Given the description of an element on the screen output the (x, y) to click on. 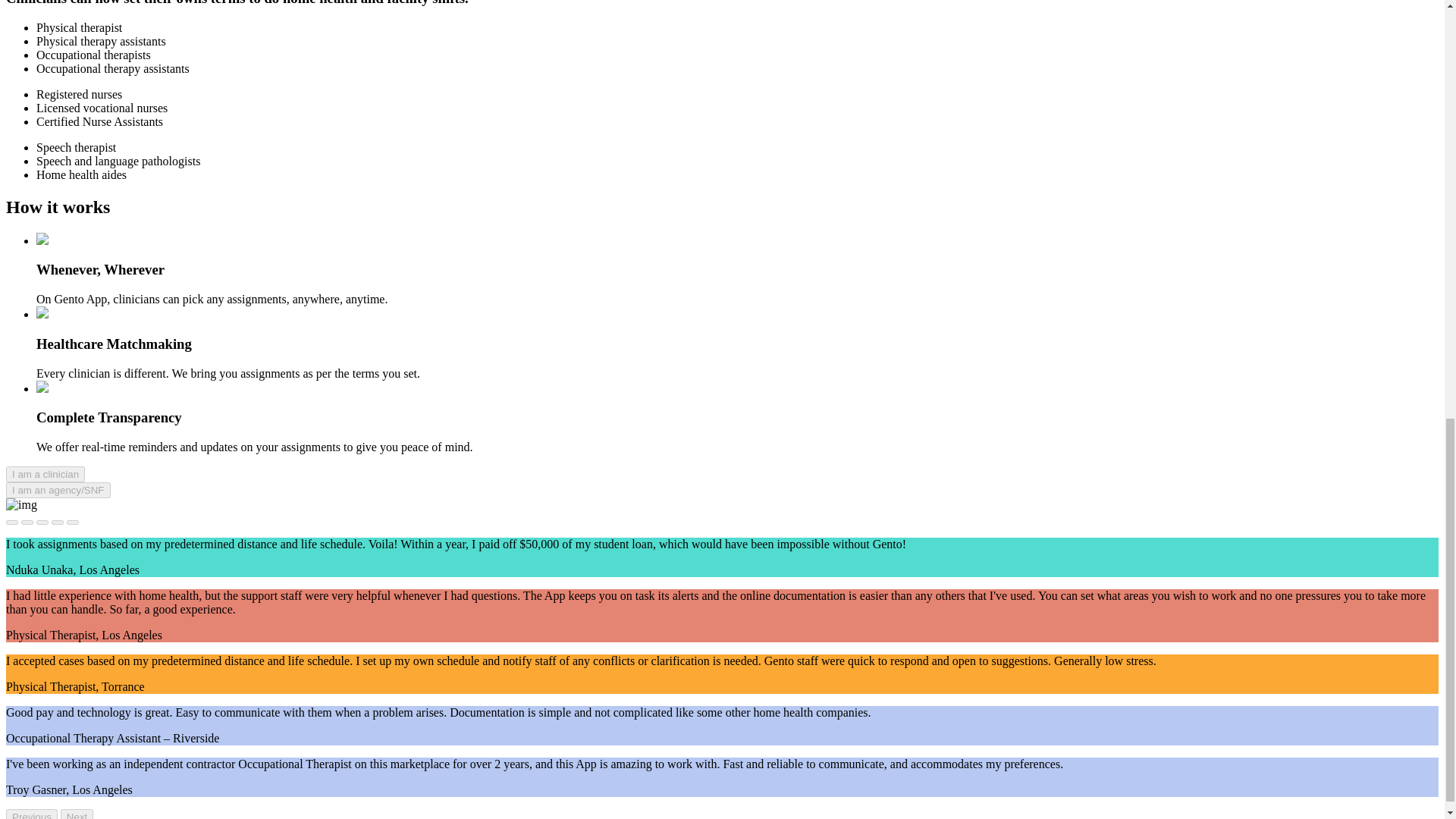
I am a clinician (44, 472)
I am a clinician (44, 474)
